Given the description of an element on the screen output the (x, y) to click on. 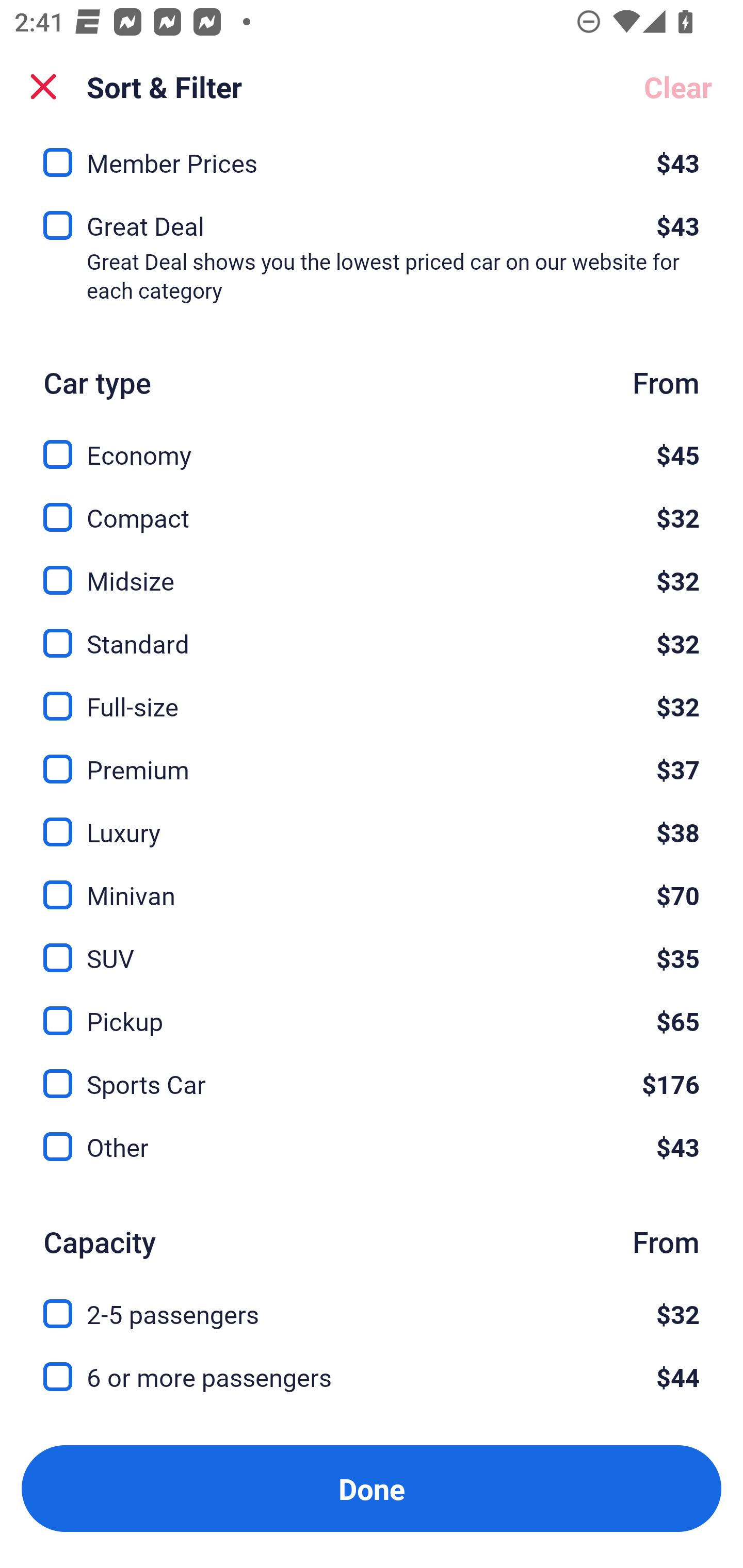
Close Sort and Filter (43, 86)
Clear (677, 86)
Member Prices, $43 Member Prices $43 (371, 162)
Economy, $45 Economy $45 (371, 442)
Compact, $32 Compact $32 (371, 506)
Midsize, $32 Midsize $32 (371, 568)
Standard, $32 Standard $32 (371, 631)
Full-size, $32 Full-size $32 (371, 694)
Premium, $37 Premium $37 (371, 756)
Luxury, $38 Luxury $38 (371, 819)
Minivan, $70 Minivan $70 (371, 883)
SUV, $35 SUV $35 (371, 946)
Pickup, $65 Pickup $65 (371, 1009)
Sports Car, $176 Sports Car $176 (371, 1072)
Other, $43 Other $43 (371, 1146)
2-5 passengers, $32 2-5 passengers $32 (371, 1302)
6 or more passengers, $44 6 or more passengers $44 (371, 1377)
Apply and close Sort and Filter Done (371, 1488)
